Given the description of an element on the screen output the (x, y) to click on. 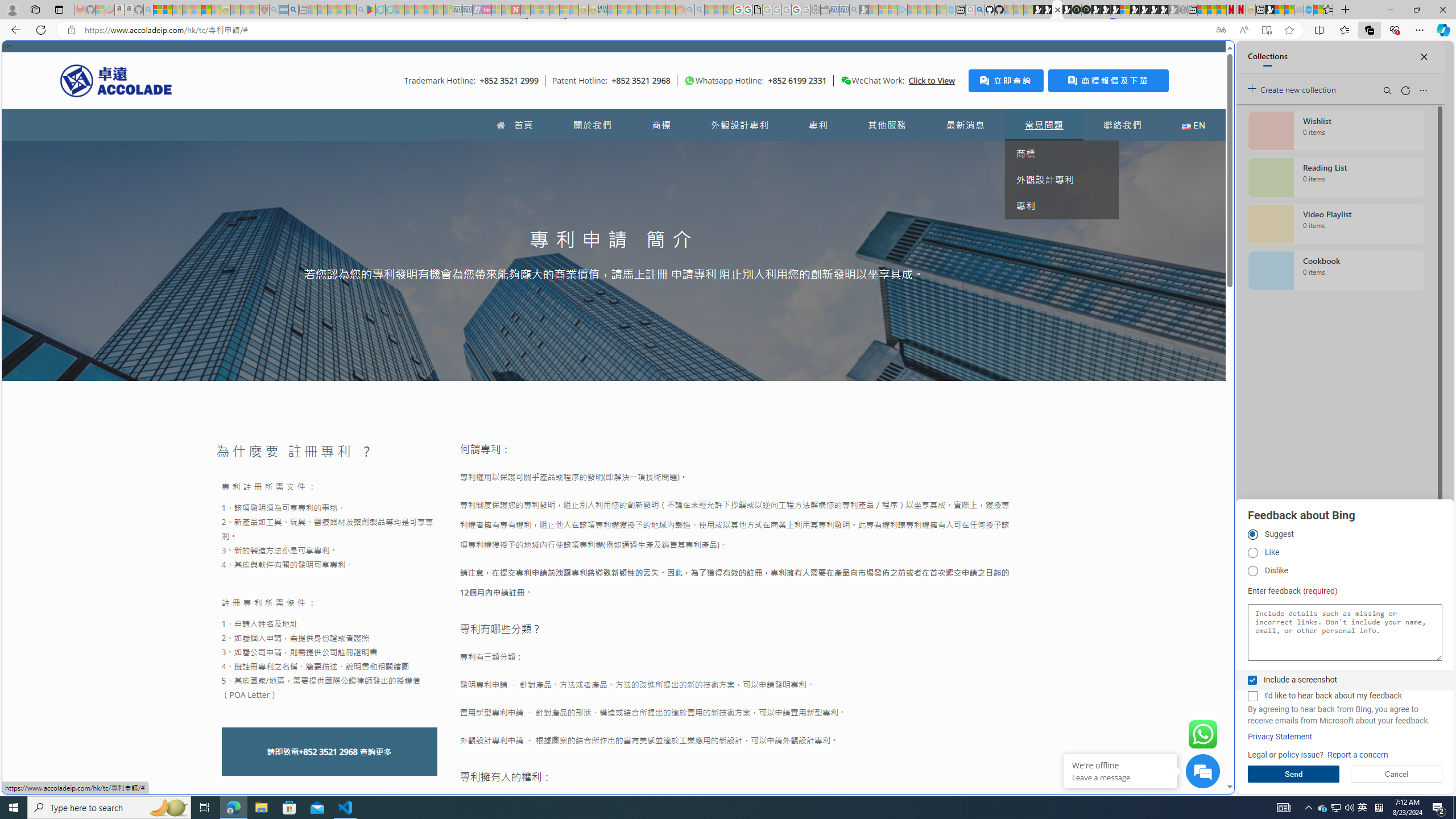
Trusted Community Engagement and Contributions | Guidelines (525, 9)
World - MSN (1279, 9)
